Given the description of an element on the screen output the (x, y) to click on. 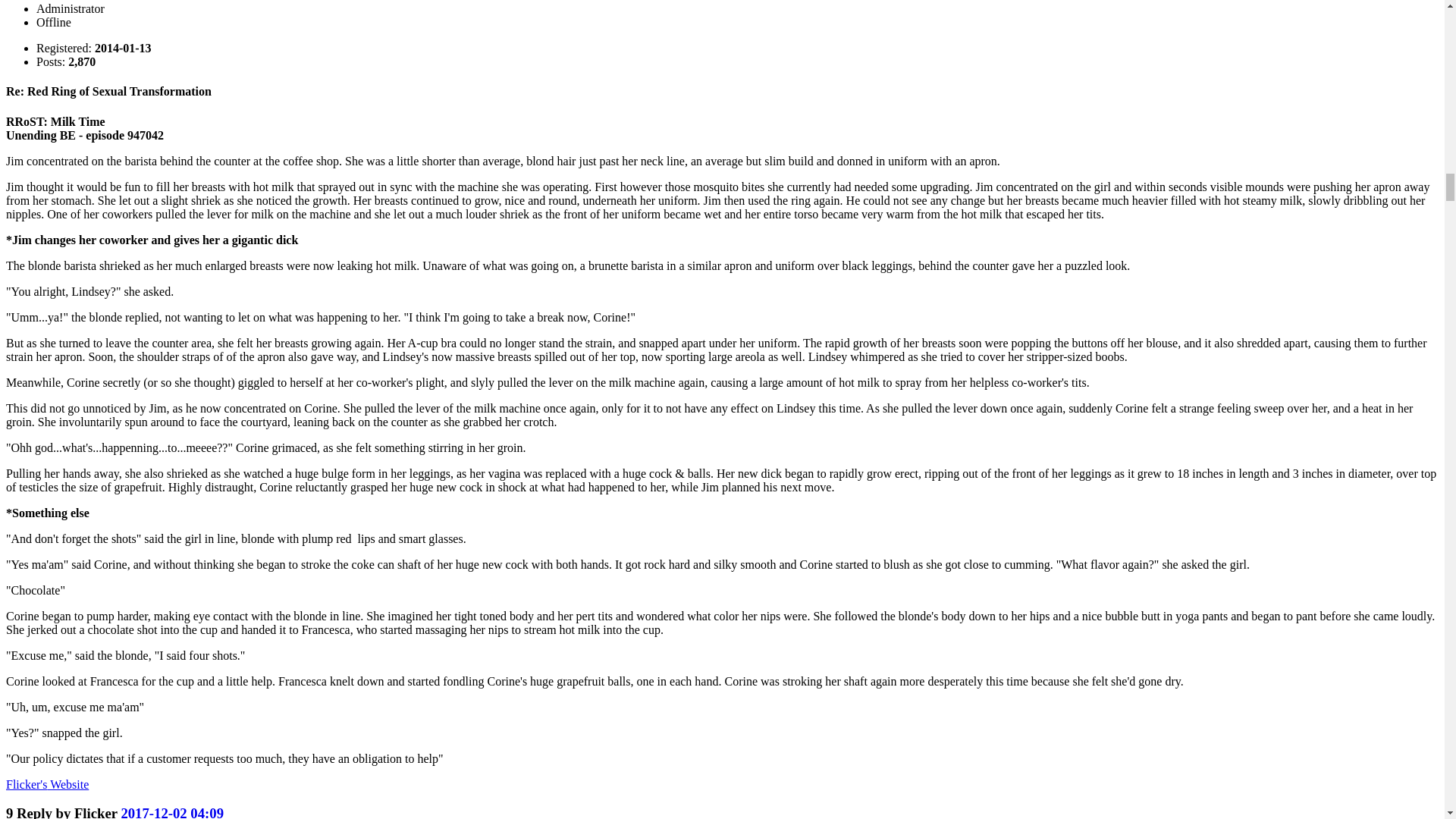
Permanent link to this post (172, 812)
Flicker's Website (46, 784)
2017-12-02 04:09 (172, 812)
